Given the description of an element on the screen output the (x, y) to click on. 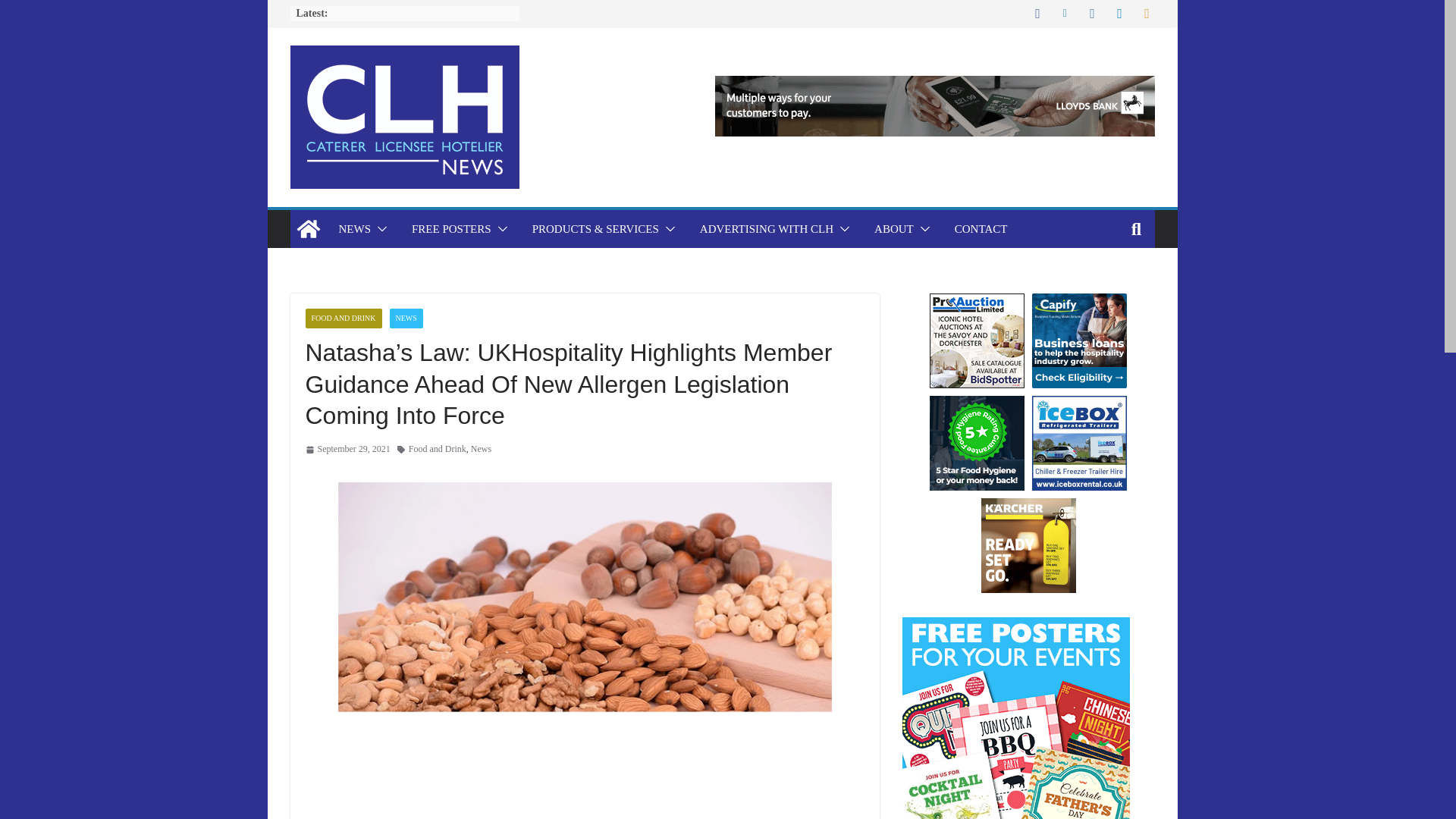
12:58 pm (347, 449)
CLH News: Caterer, Licensee and Hotelier News (307, 228)
NEWS (354, 228)
FREE POSTERS (452, 228)
